Given the description of an element on the screen output the (x, y) to click on. 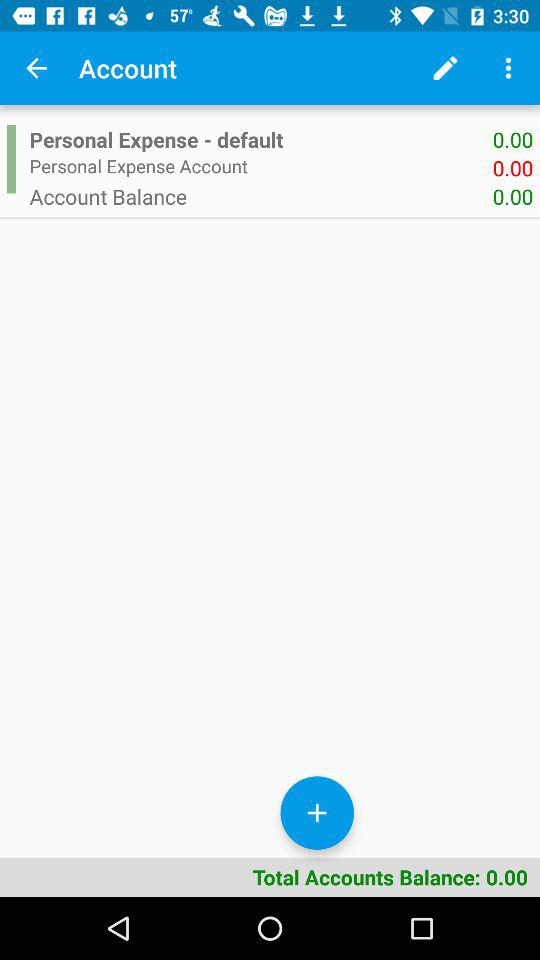
launch the item to the left of the personal expense - default icon (11, 159)
